Given the description of an element on the screen output the (x, y) to click on. 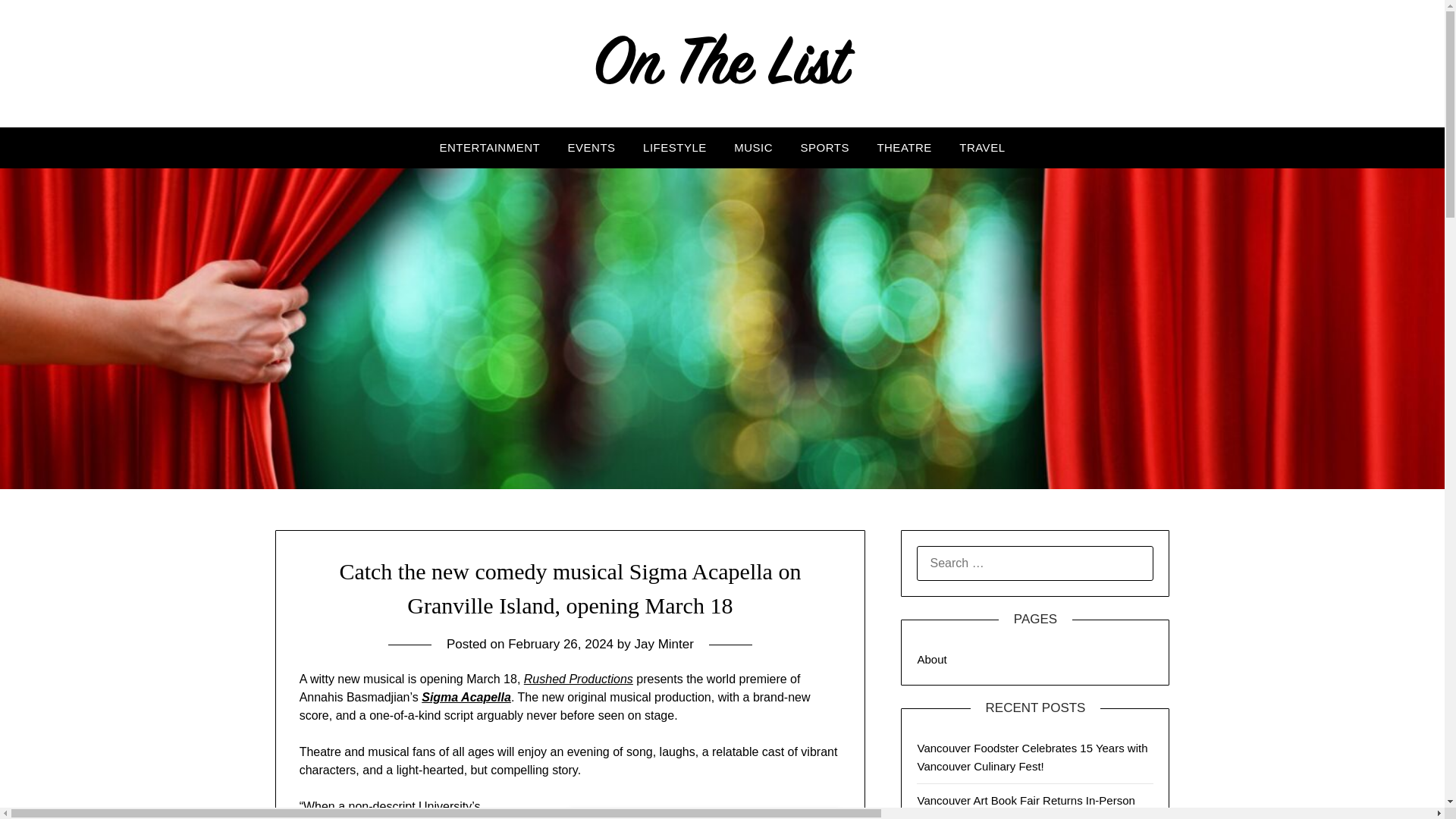
MUSIC (753, 147)
ENTERTAINMENT (490, 147)
Search (38, 22)
February 26, 2024 (560, 644)
Rushed Productions (578, 678)
THEATRE (903, 147)
EVENTS (591, 147)
Vancouver Art Book Fair Returns In-Person July 26-27 (1025, 806)
SPORTS (825, 147)
About (931, 658)
TRAVEL (981, 147)
Sigma Acapella (466, 697)
Jay Minter (663, 644)
LIFESTYLE (674, 147)
